Given the description of an element on the screen output the (x, y) to click on. 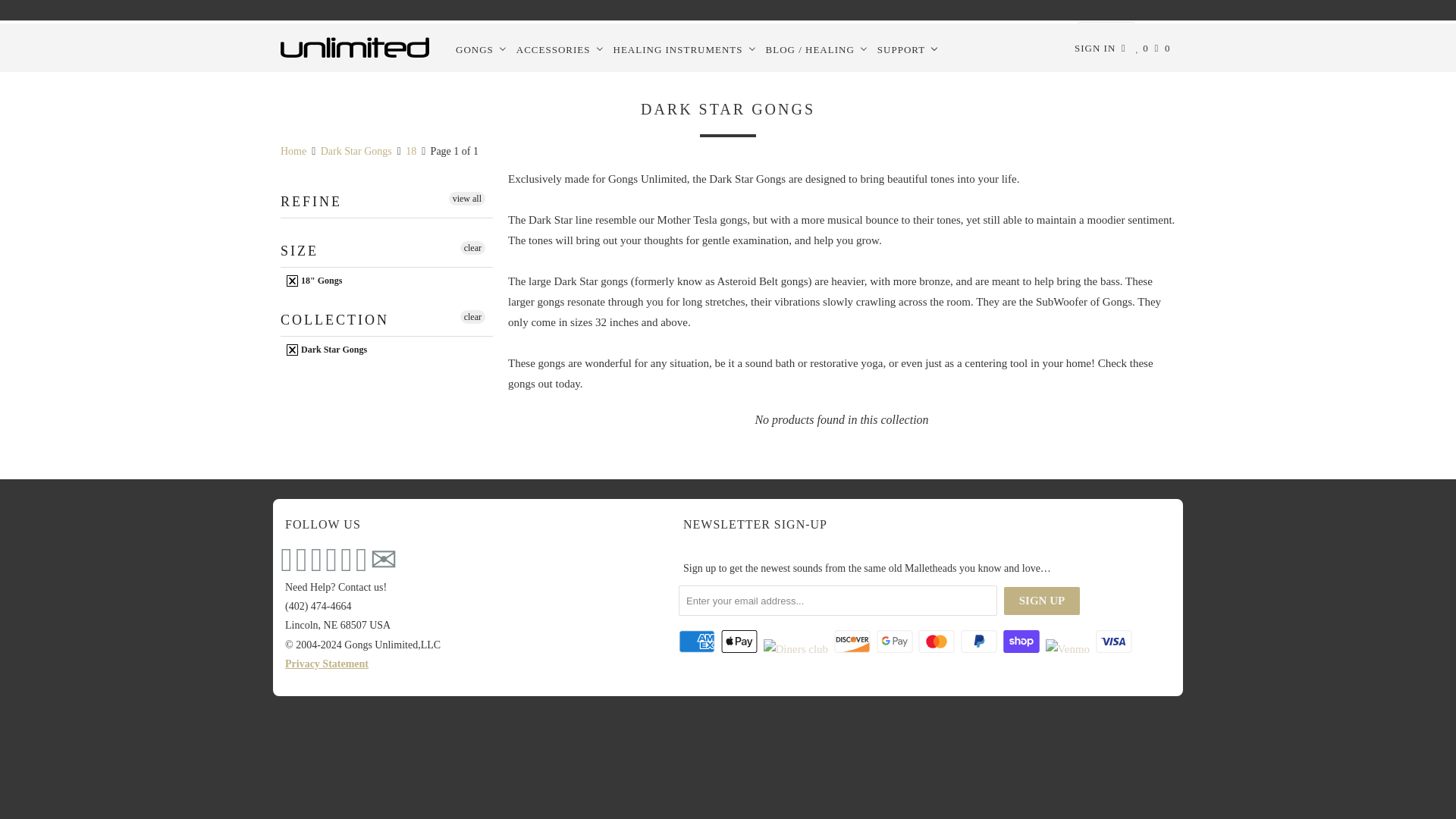
Sign Up (1042, 601)
18" Gongs (387, 281)
